Given the description of an element on the screen output the (x, y) to click on. 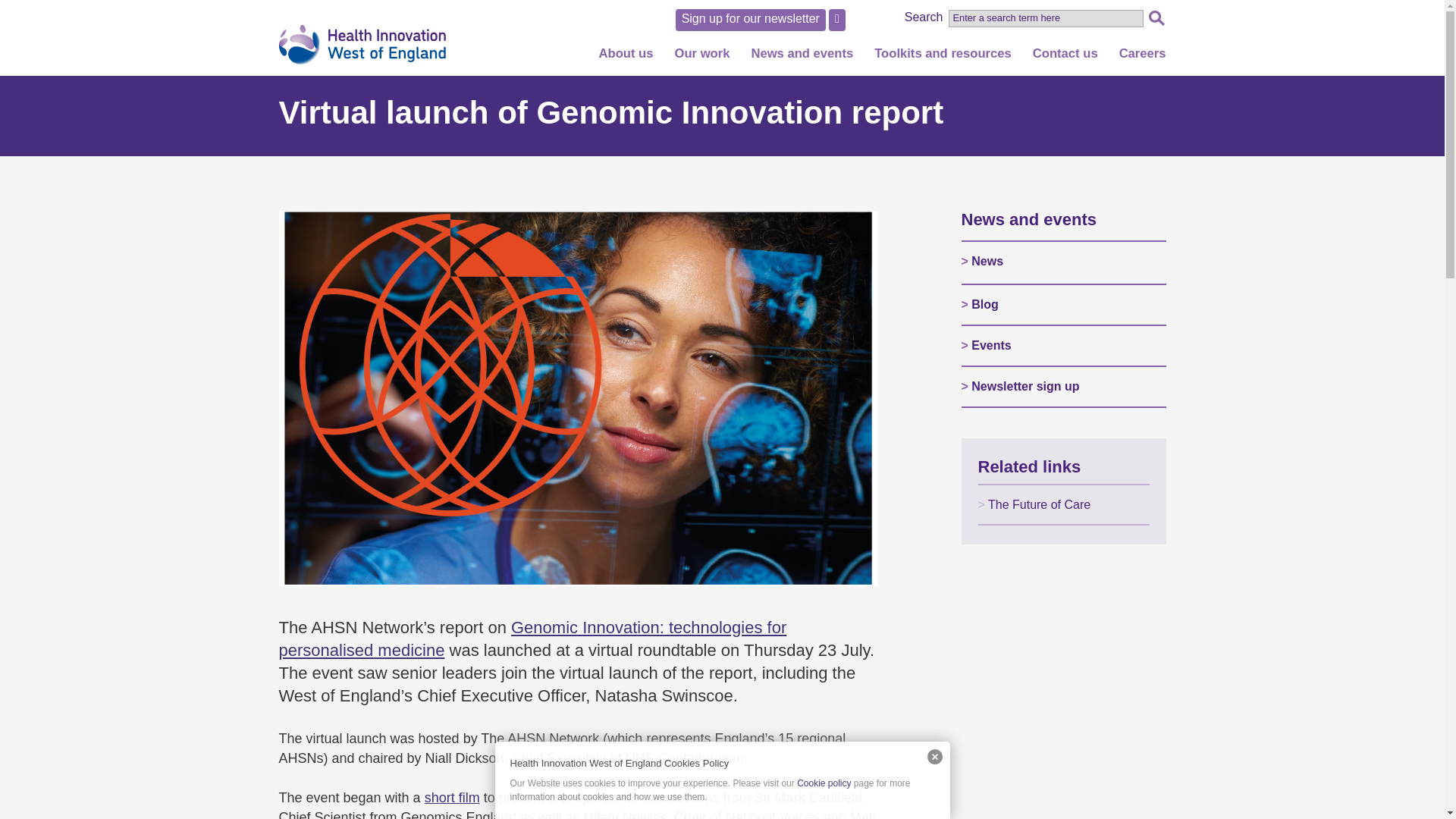
About us (625, 58)
Meet the team (636, 160)
Sign up for our newsletter (750, 20)
Improving patient safety (712, 111)
Our region (636, 87)
Clinical leads team (636, 209)
Blog (813, 136)
Search (1156, 17)
News (813, 87)
Strategies and reports (636, 233)
Case studies (712, 209)
The board (636, 184)
Newsletter sign up (813, 184)
Our work (701, 58)
Toolkits and resources (943, 58)
